Given the description of an element on the screen output the (x, y) to click on. 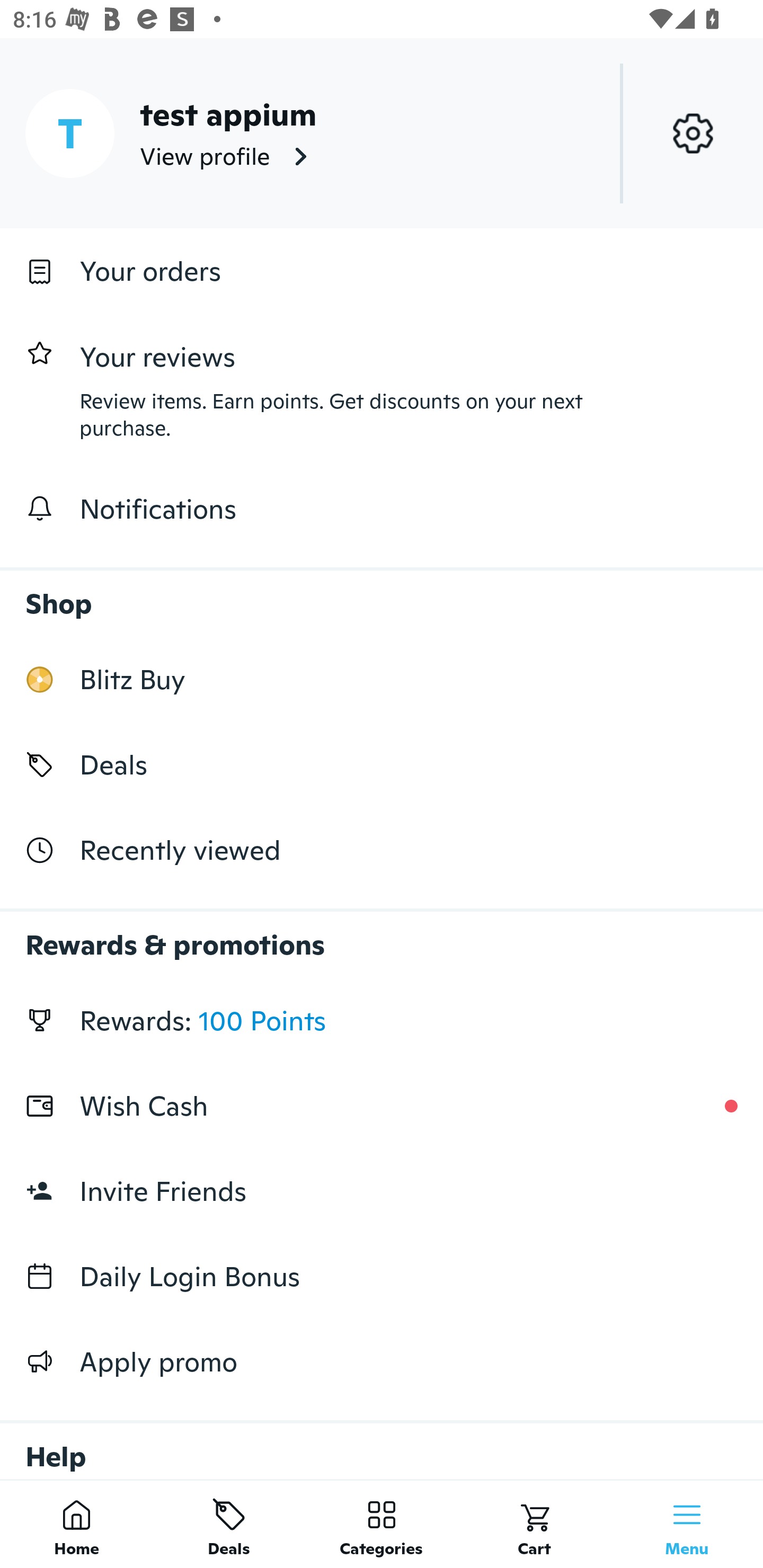
T test appium View profile (381, 132)
Your orders (381, 270)
Notifications (381, 508)
Shop (381, 593)
Blitz Buy (381, 679)
Deals (381, 764)
Recently viewed (381, 850)
Rewards & promotions (381, 935)
Rewards: 100 Points (381, 1020)
Wish Cash (381, 1106)
Invite Friends (381, 1190)
Daily Login Bonus (381, 1277)
Apply promo (381, 1361)
Help (381, 1441)
Home (76, 1523)
Deals (228, 1523)
Categories (381, 1523)
Cart (533, 1523)
Menu (686, 1523)
